Given the description of an element on the screen output the (x, y) to click on. 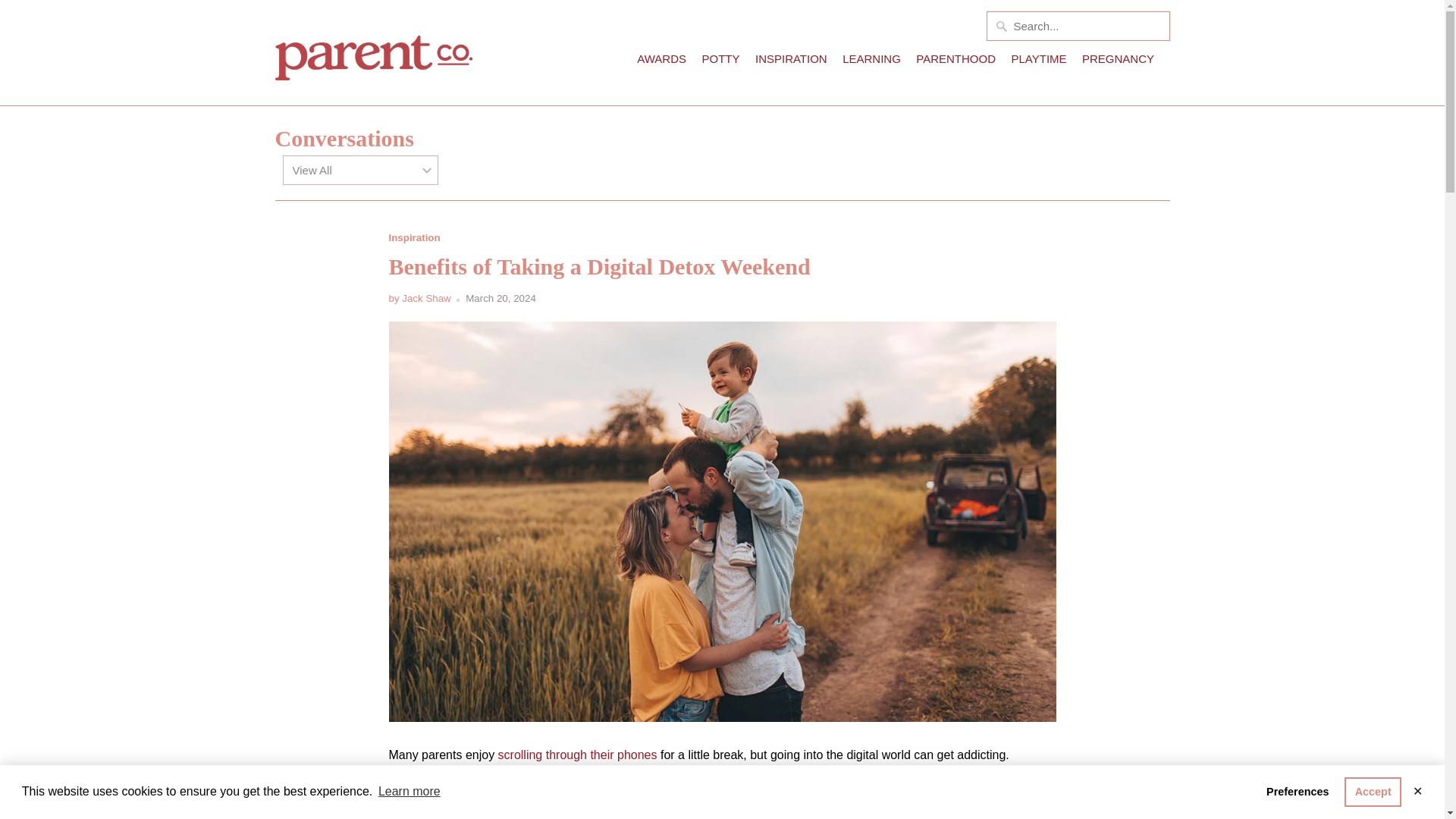
LEARNING (872, 62)
Conversations tagged Inspiration (413, 237)
by Jack Shaw (418, 297)
Conversations (344, 138)
INSPIRATION (791, 62)
AWARDS (661, 62)
Learn more (408, 791)
Accept (1371, 791)
POTTY (720, 62)
scrolling through their phones (577, 754)
Inspiration (413, 237)
ParentCo. (373, 52)
PARENTHOOD (955, 62)
Preferences (1297, 791)
PREGNANCY (1117, 62)
